Given the description of an element on the screen output the (x, y) to click on. 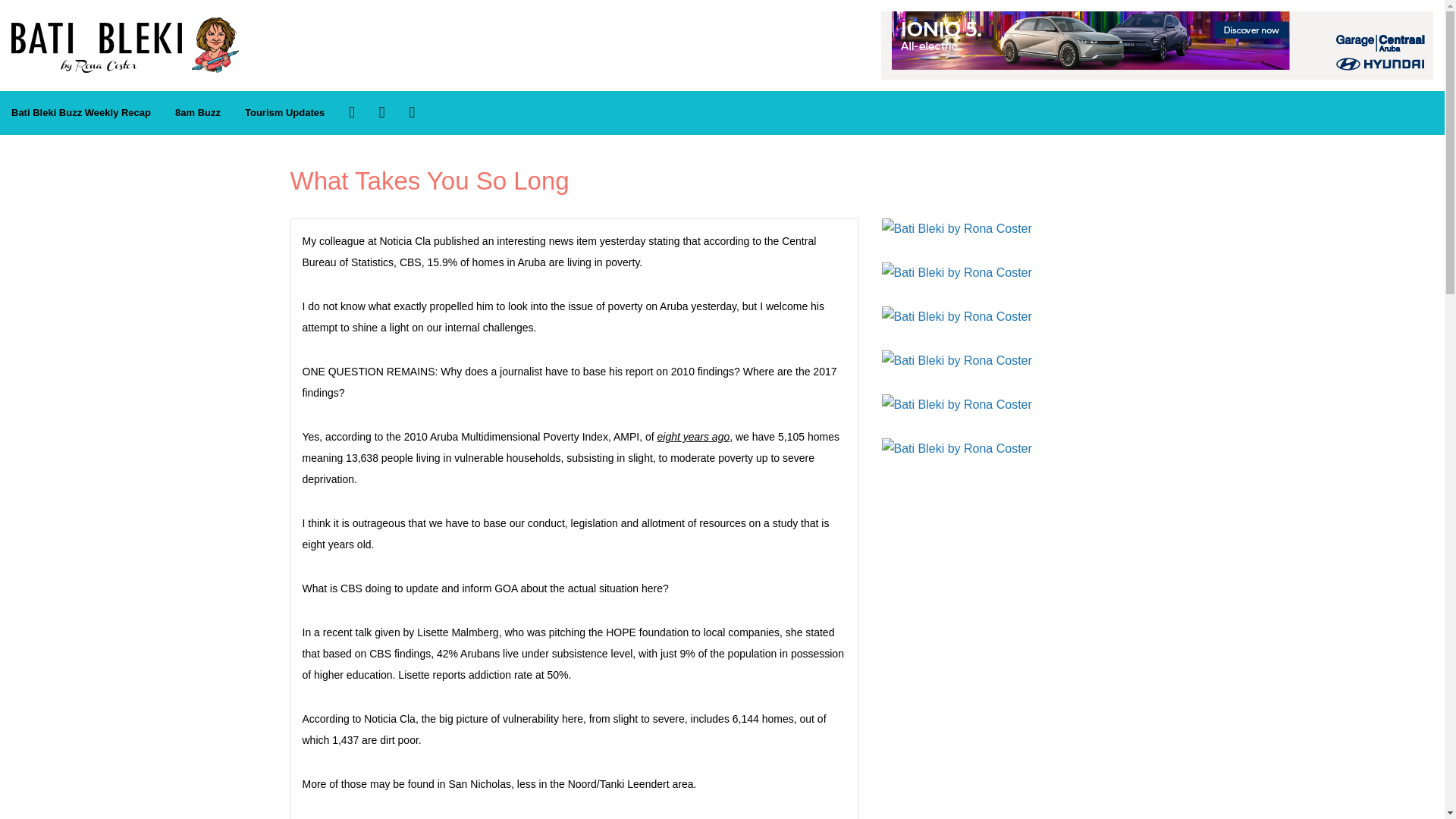
Tourism Updates (284, 112)
Bati Bleki Buzz Weekly Recap (80, 112)
Download app in App Store (382, 112)
Go to my Facebook Page (351, 112)
Download app in Google Play (411, 112)
Go to homepage (124, 25)
8am Buzz (197, 112)
